Given the description of an element on the screen output the (x, y) to click on. 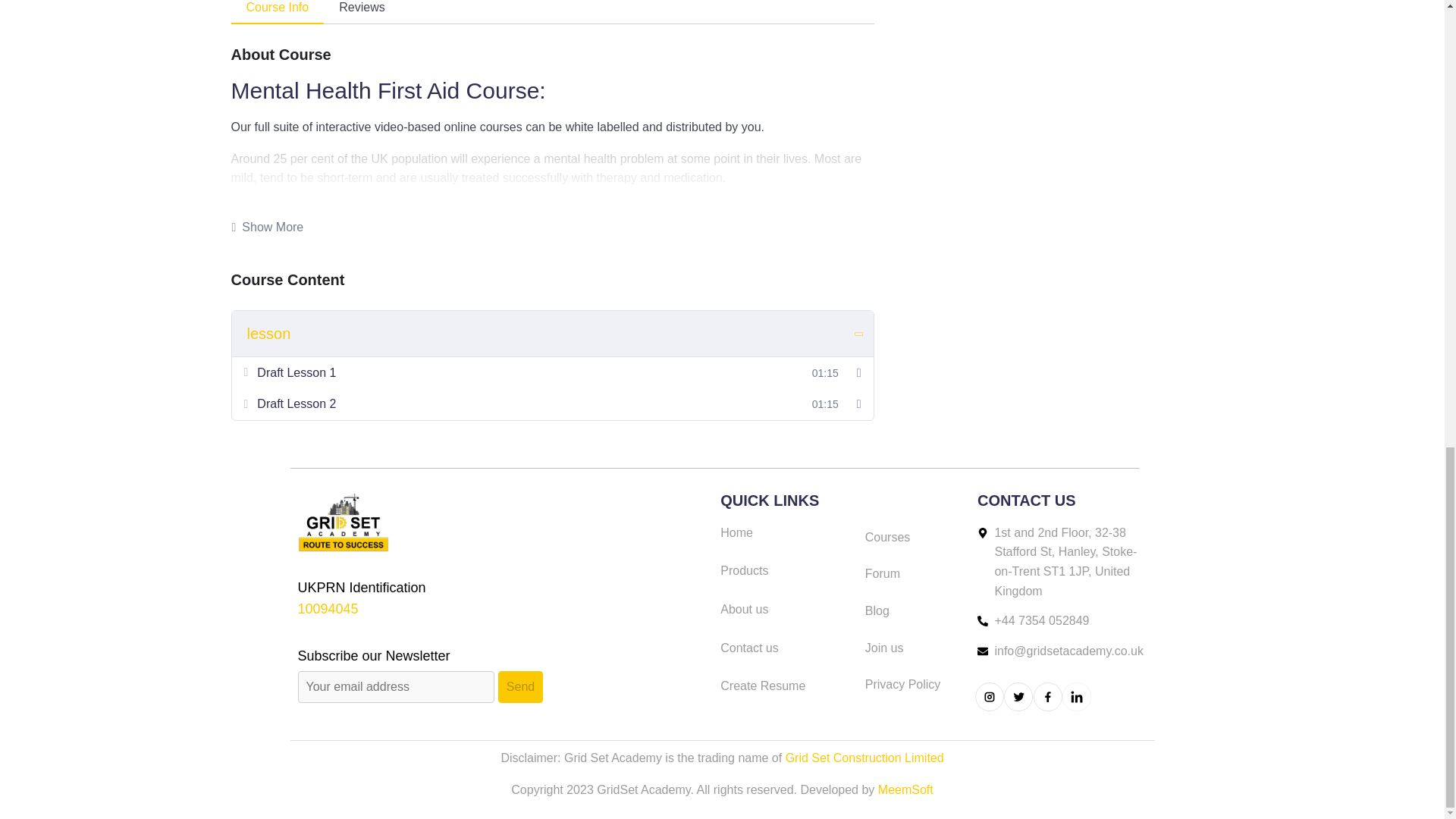
Course Info (276, 12)
Show More (267, 227)
Reviews (360, 12)
Send (520, 686)
About us (785, 609)
Contact us (785, 648)
Send (520, 686)
Home (785, 532)
Create Resume (785, 686)
Products (785, 570)
